Given the description of an element on the screen output the (x, y) to click on. 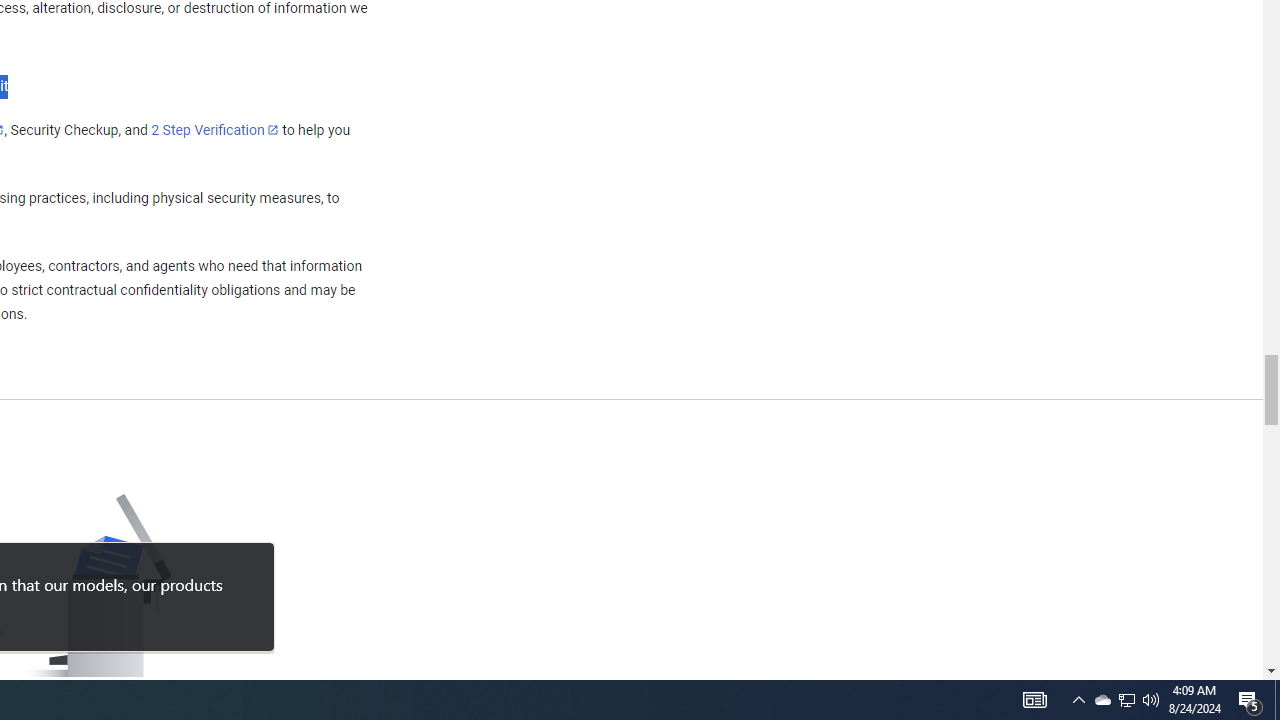
2 Step Verification (215, 129)
